Given the description of an element on the screen output the (x, y) to click on. 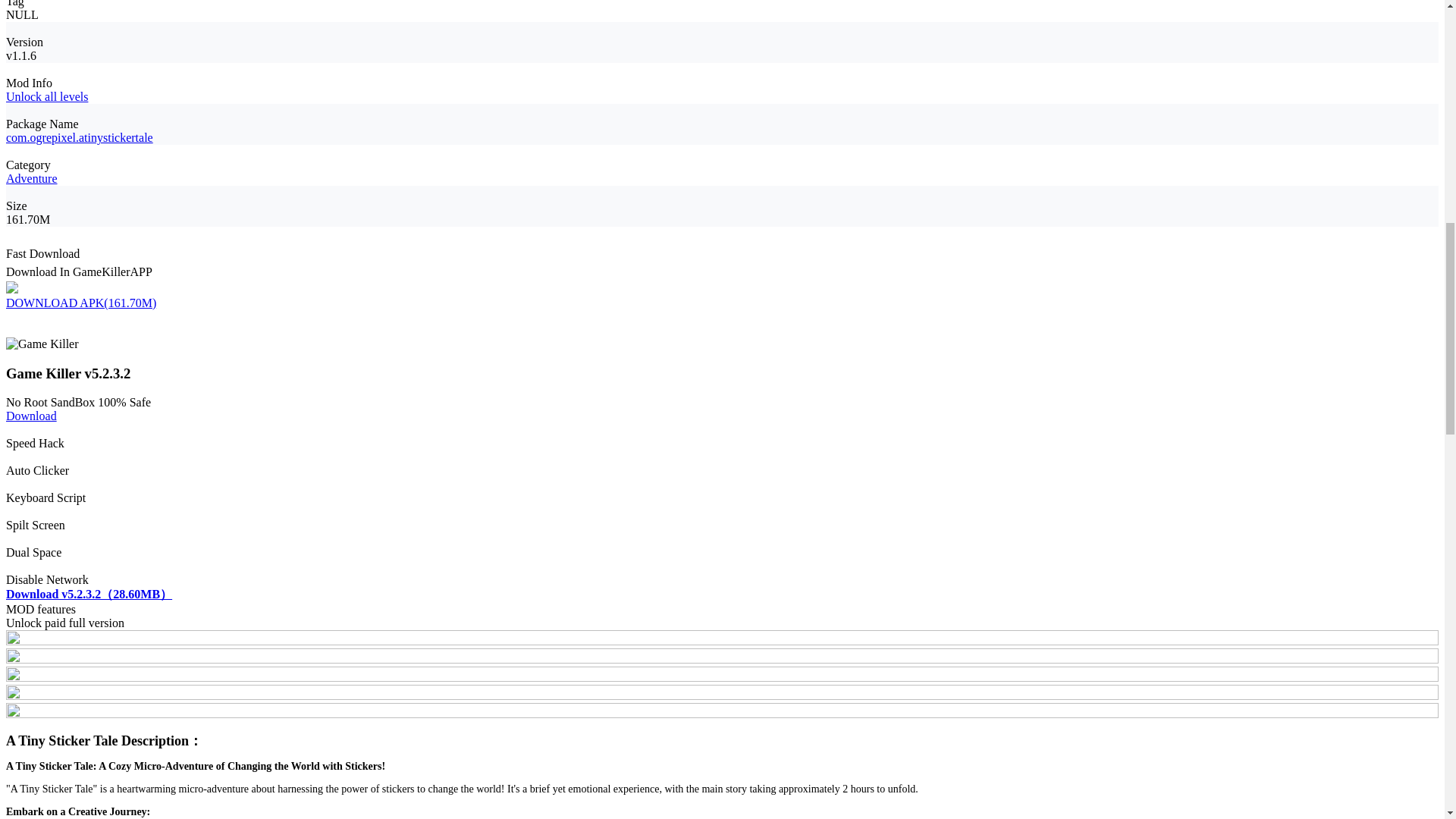
Unlock all levels (46, 96)
Adventure (31, 178)
